Given the description of an element on the screen output the (x, y) to click on. 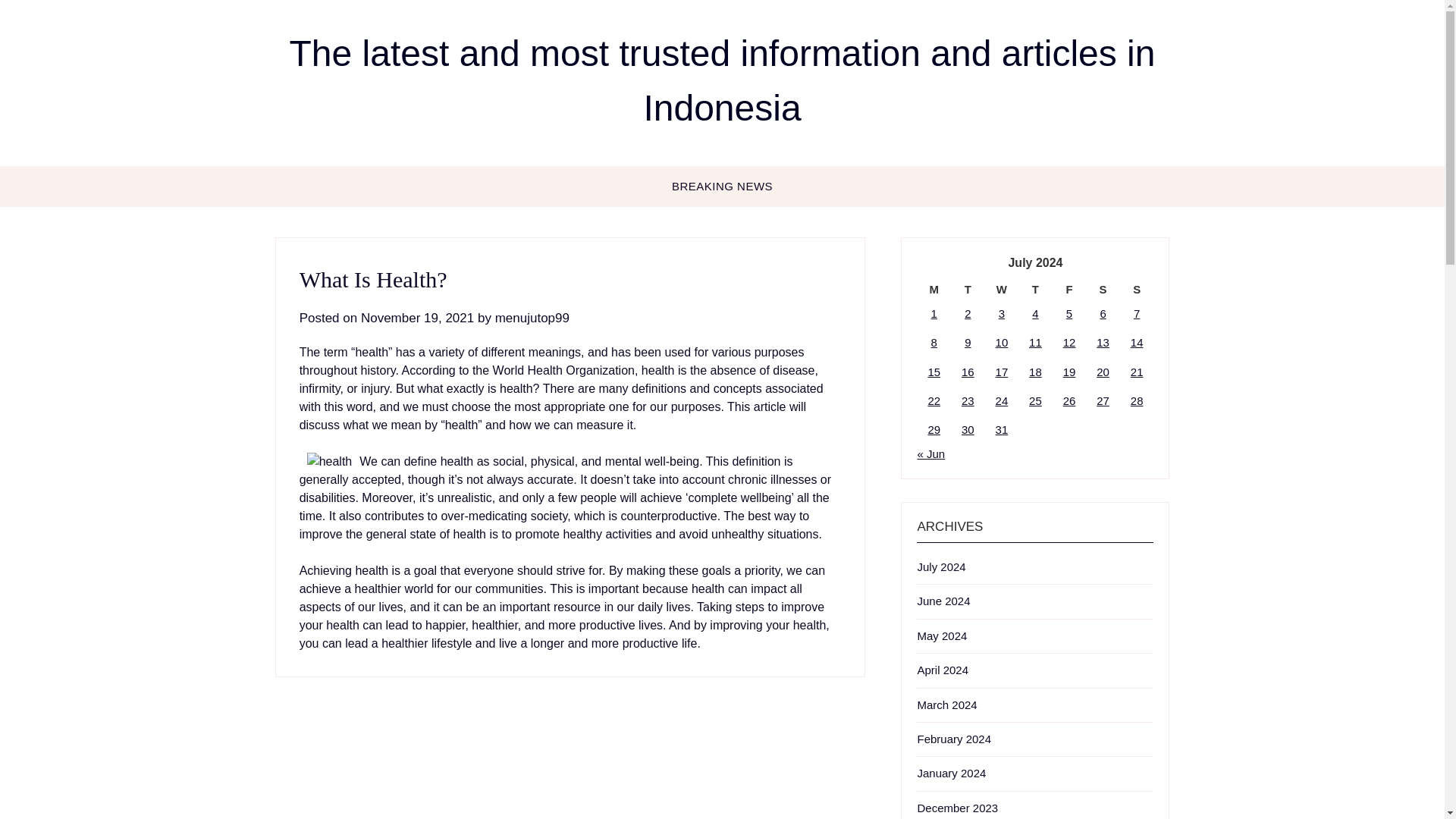
22 (933, 400)
14 (1136, 341)
BREAKING NEWS (721, 186)
21 (1136, 371)
19 (1068, 371)
Thursday (1034, 289)
12 (1068, 341)
10 (1002, 341)
November 19, 2021 (417, 318)
Wednesday (1002, 289)
15 (933, 371)
13 (1102, 341)
16 (967, 371)
28 (1136, 400)
menujutop99 (532, 318)
